Given the description of an element on the screen output the (x, y) to click on. 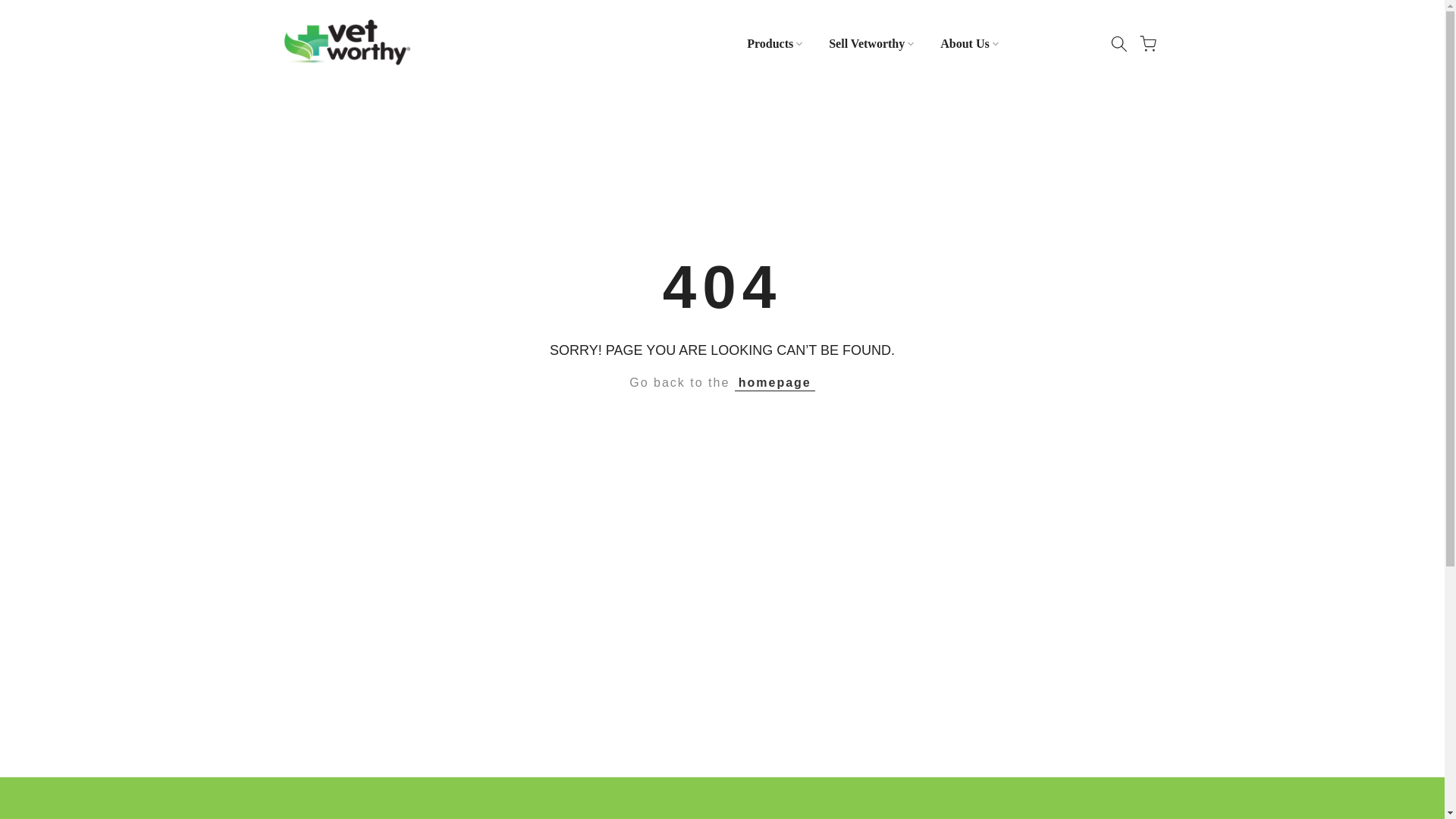
Products (774, 43)
Sell Vetworthy (871, 43)
Skip to content (10, 7)
homepage (775, 382)
About Us (969, 43)
